Given the description of an element on the screen output the (x, y) to click on. 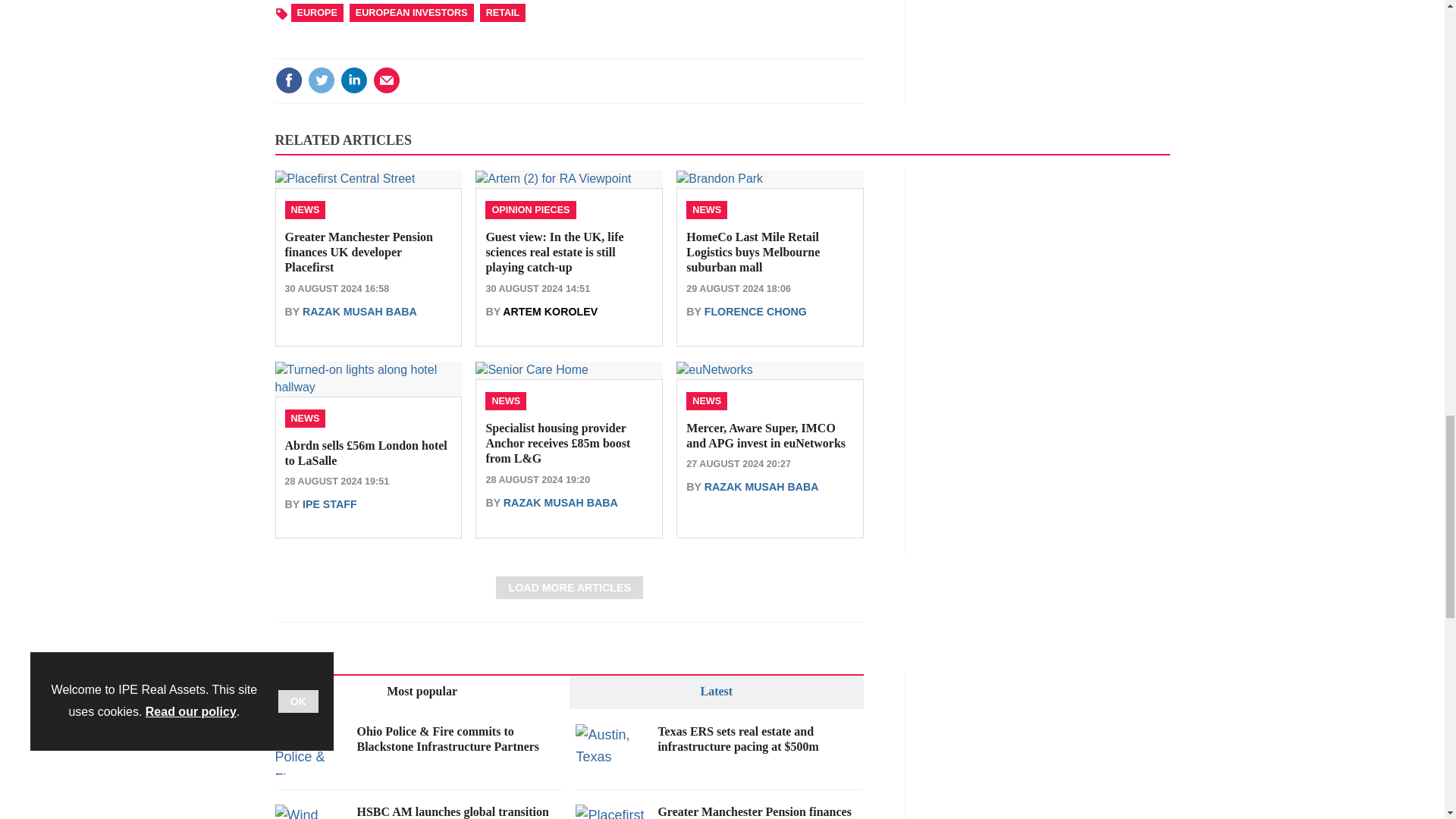
Share this on Facebook (288, 80)
Email this article (386, 80)
Share this on Linked in (352, 80)
Share this on Twitter (320, 80)
